Given the description of an element on the screen output the (x, y) to click on. 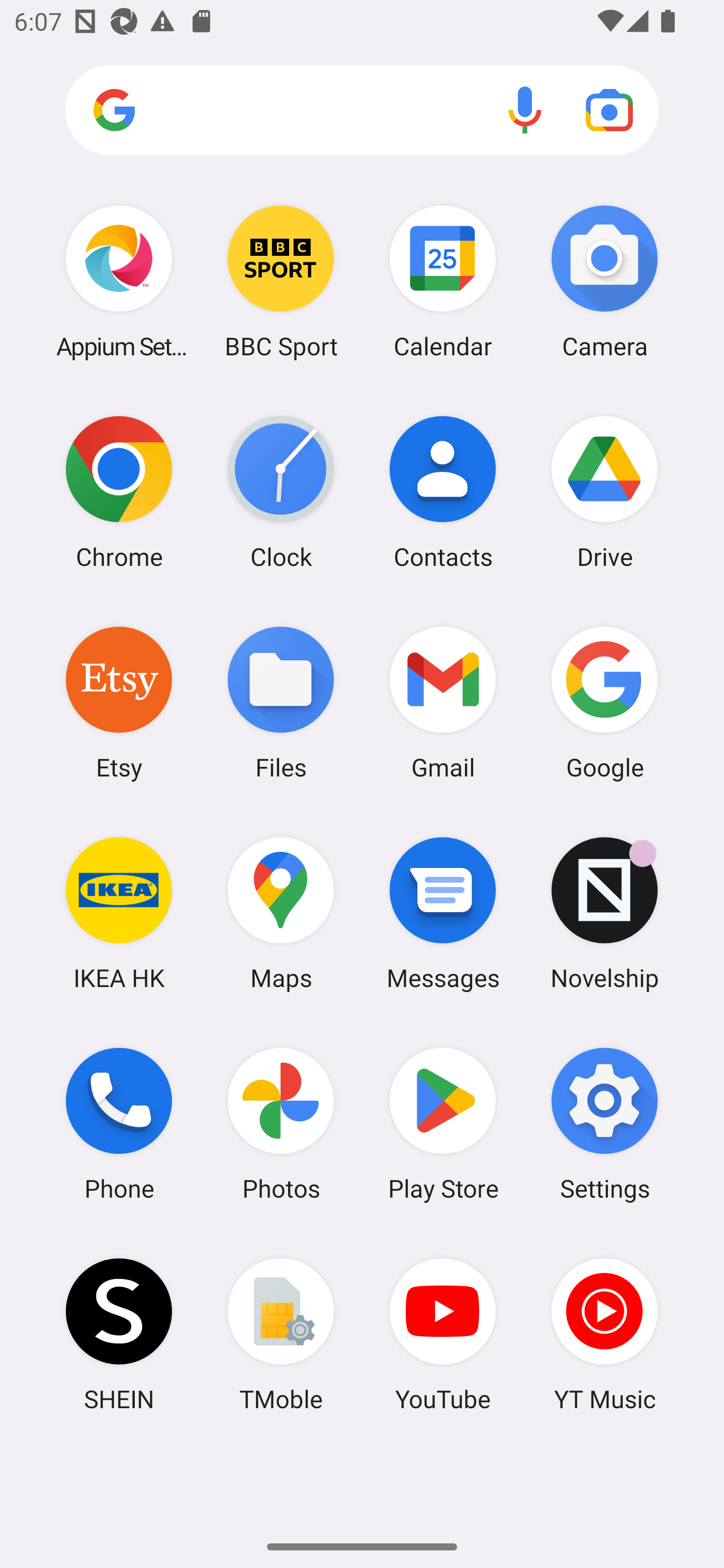
Search apps, web and more (361, 110)
Voice search (524, 109)
Google Lens (608, 109)
Appium Settings (118, 281)
BBC Sport (280, 281)
Calendar (443, 281)
Camera (604, 281)
Chrome (118, 492)
Clock (280, 492)
Contacts (443, 492)
Drive (604, 492)
Etsy (118, 702)
Files (280, 702)
Gmail (443, 702)
Google (604, 702)
IKEA HK (118, 913)
Maps (280, 913)
Messages (443, 913)
Novelship Novelship has 1 notification (604, 913)
Phone (118, 1124)
Photos (280, 1124)
Play Store (443, 1124)
Settings (604, 1124)
SHEIN (118, 1334)
TMoble (280, 1334)
YouTube (443, 1334)
YT Music (604, 1334)
